Given the description of an element on the screen output the (x, y) to click on. 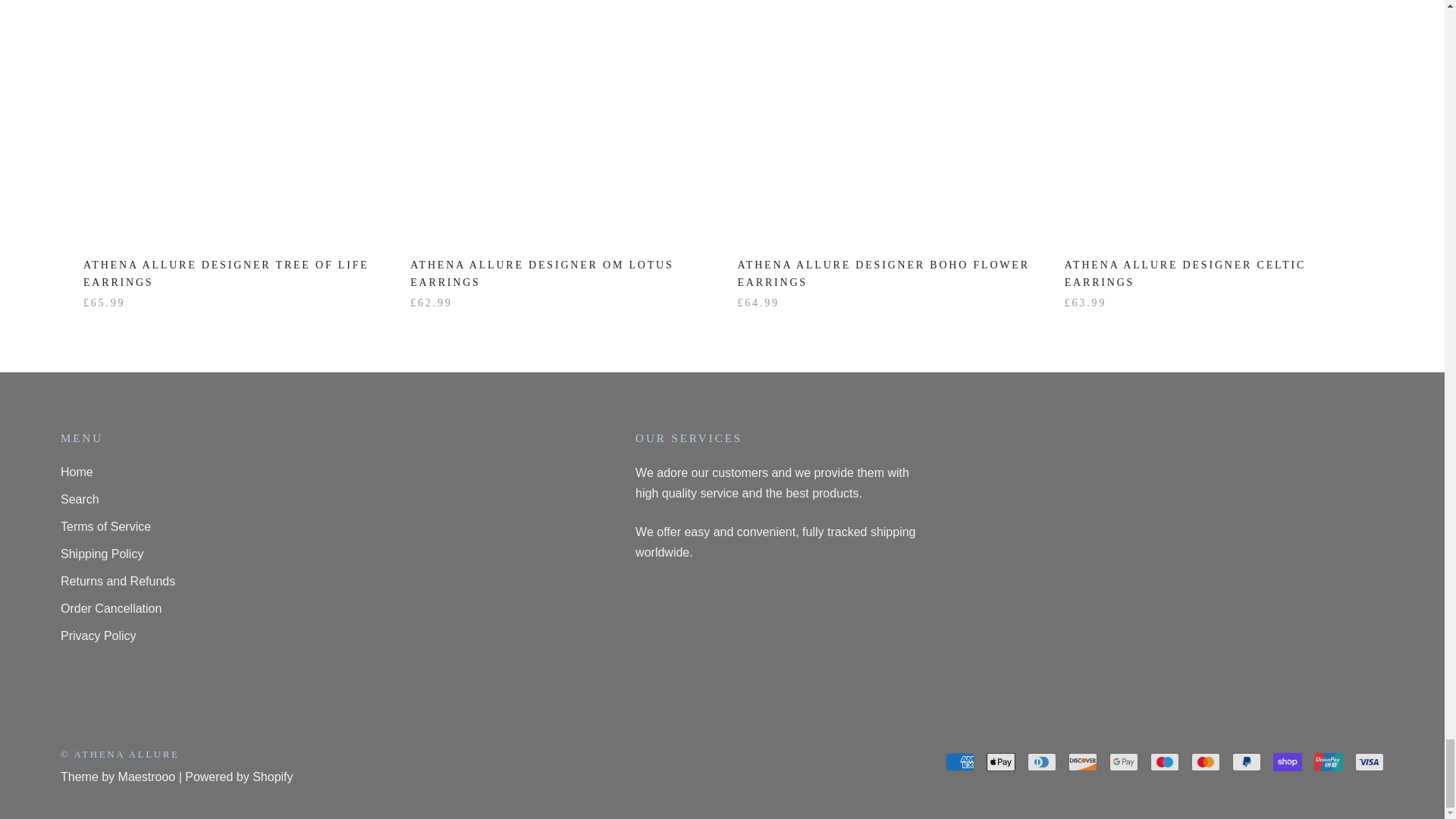
Apple Pay (1000, 761)
Union Pay (1328, 761)
American Express (959, 761)
Discover (1082, 761)
Diners Club (1042, 761)
Google Pay (1123, 761)
Mastercard (1205, 761)
Visa (1369, 761)
Shop Pay (1286, 761)
PayPal (1245, 761)
Maestro (1164, 761)
